Given the description of an element on the screen output the (x, y) to click on. 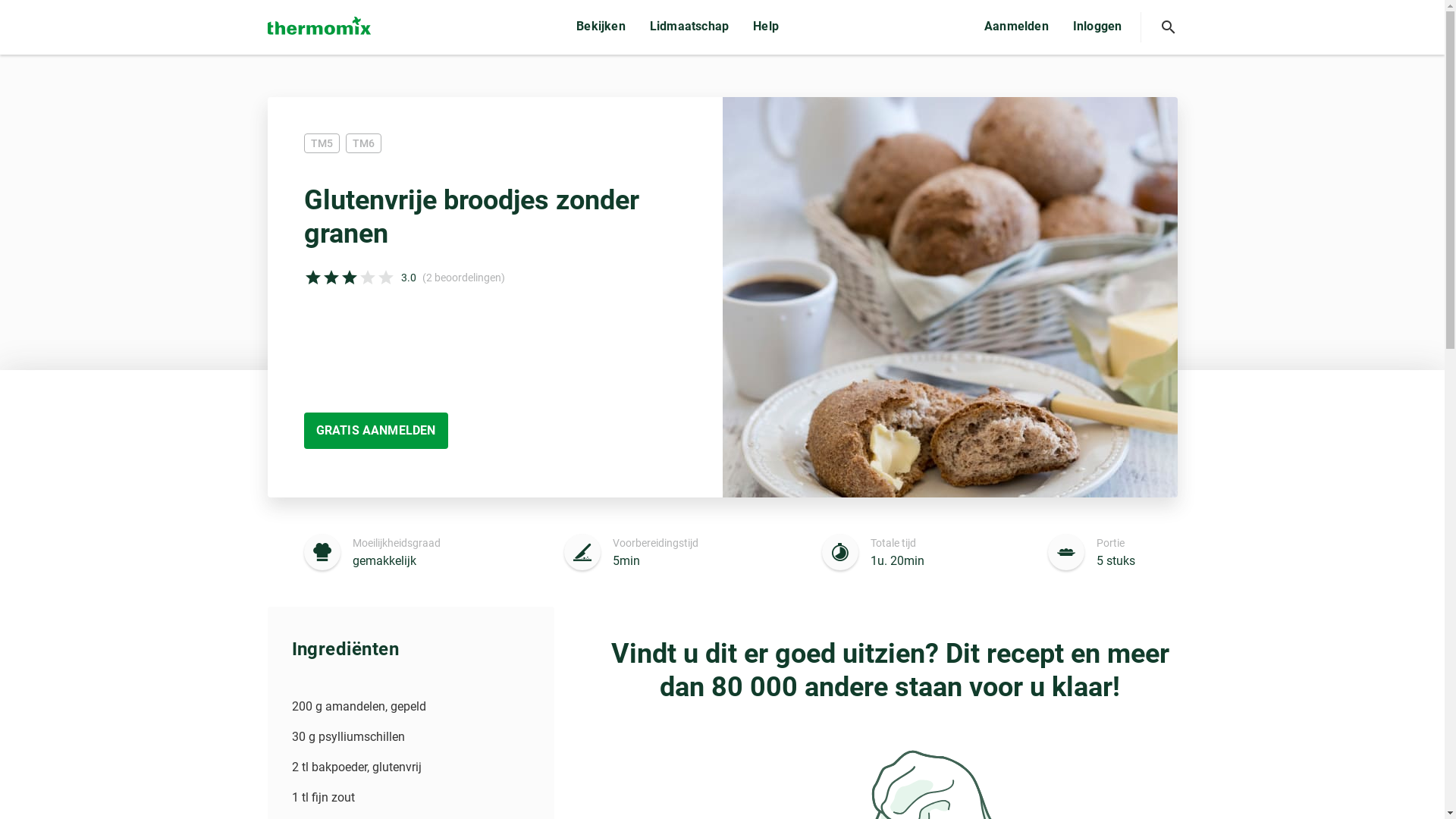
Glutenvrije broodjes zonder granen Element type: hover (948, 297)
Bekijken Element type: text (600, 27)
Help Element type: text (765, 27)
GRATIS AANMELDEN Element type: text (375, 430)
Inloggen Element type: text (1097, 27)
Lidmaatschap Element type: text (688, 27)
Aanmelden Element type: text (1016, 27)
